Given the description of an element on the screen output the (x, y) to click on. 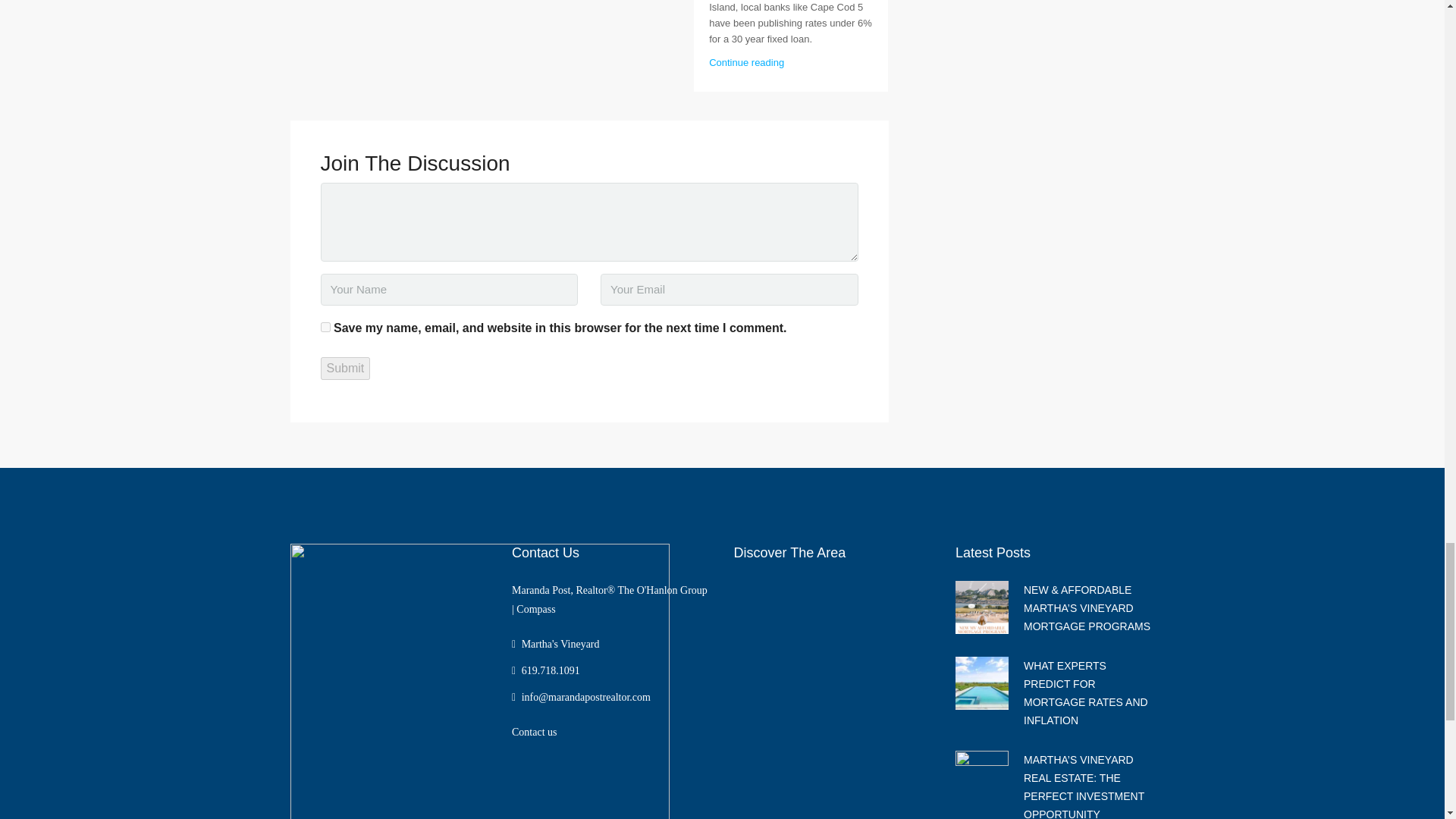
yes (325, 327)
Submit (344, 368)
